Given the description of an element on the screen output the (x, y) to click on. 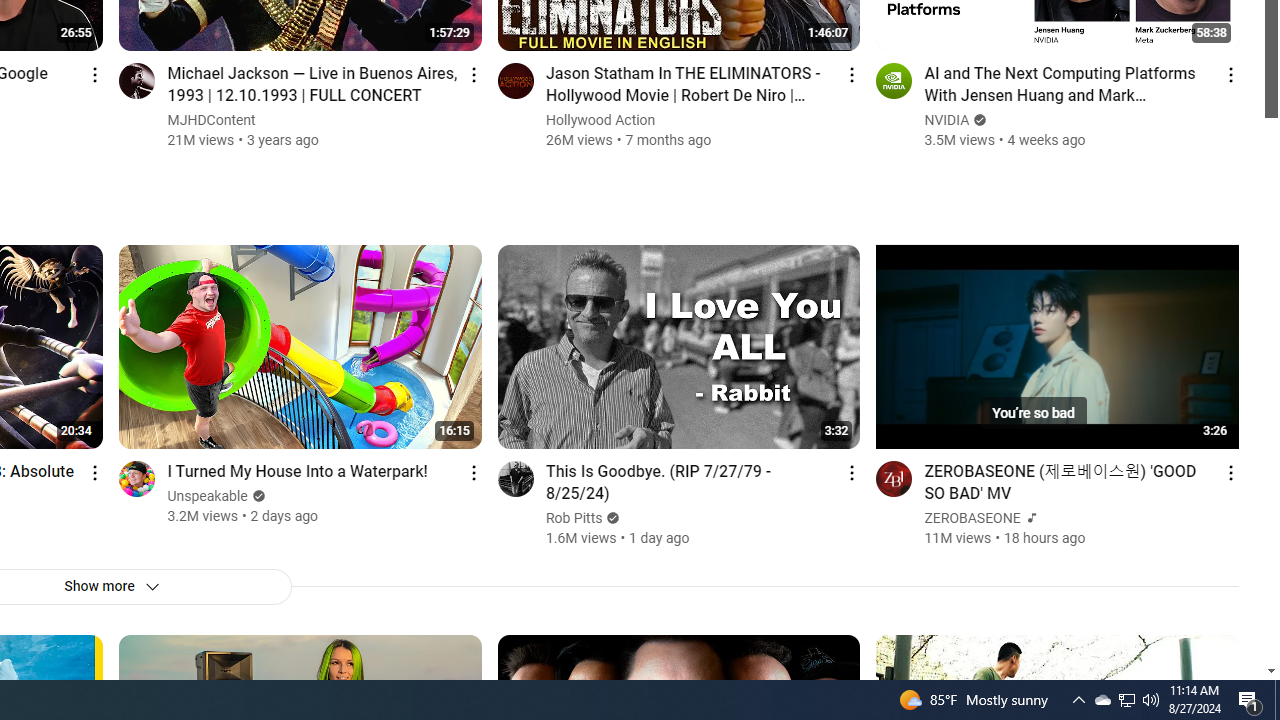
MJHDContent (212, 120)
Go to channel (893, 478)
Hollywood Action (600, 120)
Unspeakable (207, 496)
ZEROBASEONE (973, 518)
Official Artist Channel (1029, 518)
NVIDIA (947, 120)
